Given the description of an element on the screen output the (x, y) to click on. 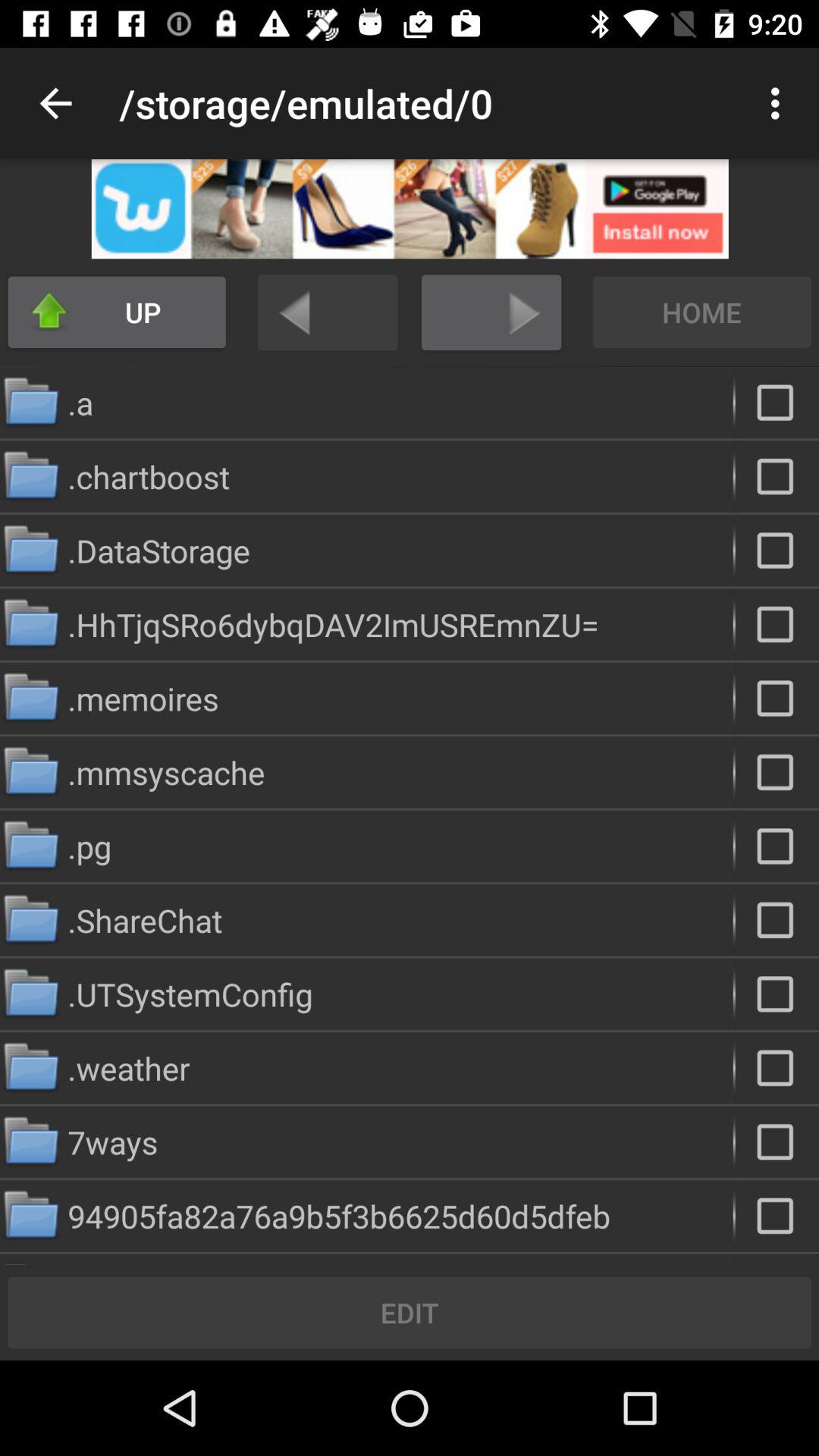
open advertisement (409, 208)
